Given the description of an element on the screen output the (x, y) to click on. 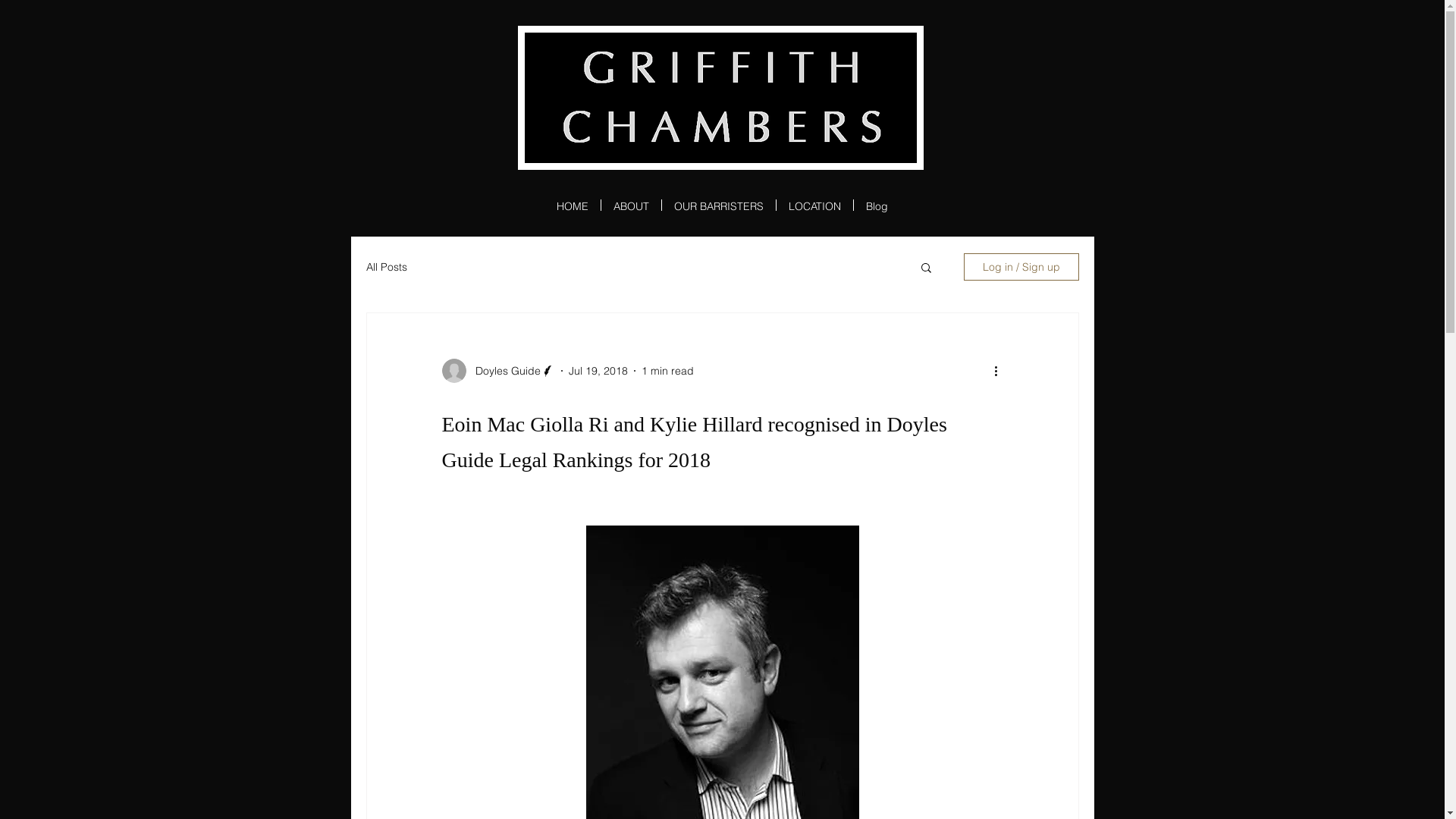
Blog Element type: text (876, 204)
All Posts Element type: text (385, 266)
ABOUT Element type: text (631, 204)
Log in / Sign up Element type: text (1020, 266)
OUR BARRISTERS Element type: text (718, 204)
LOCATION Element type: text (814, 204)
HOME Element type: text (572, 204)
